Given the description of an element on the screen output the (x, y) to click on. 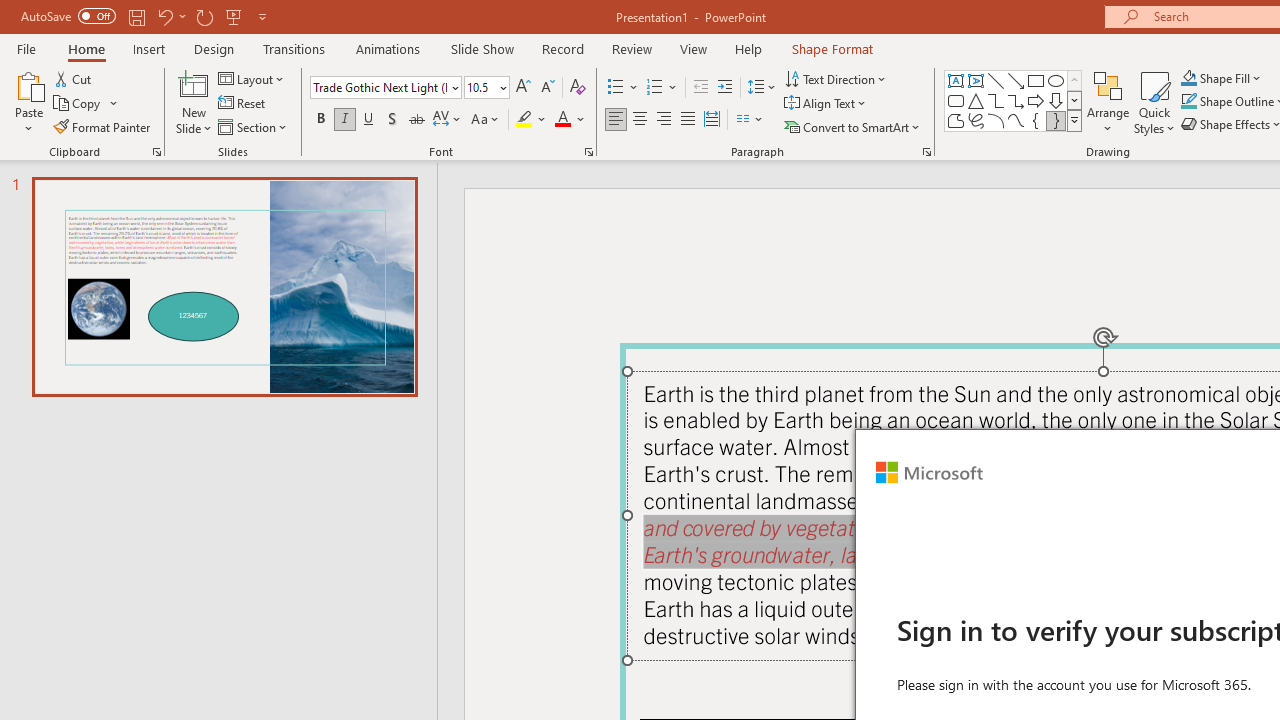
Convert to SmartArt (853, 126)
Curve (1016, 120)
Freeform: Scribble (975, 120)
Line (995, 80)
Justify (687, 119)
Font Color Red (562, 119)
Left Brace (1035, 120)
Arrow: Down (1055, 100)
Paragraph... (926, 151)
